Given the description of an element on the screen output the (x, y) to click on. 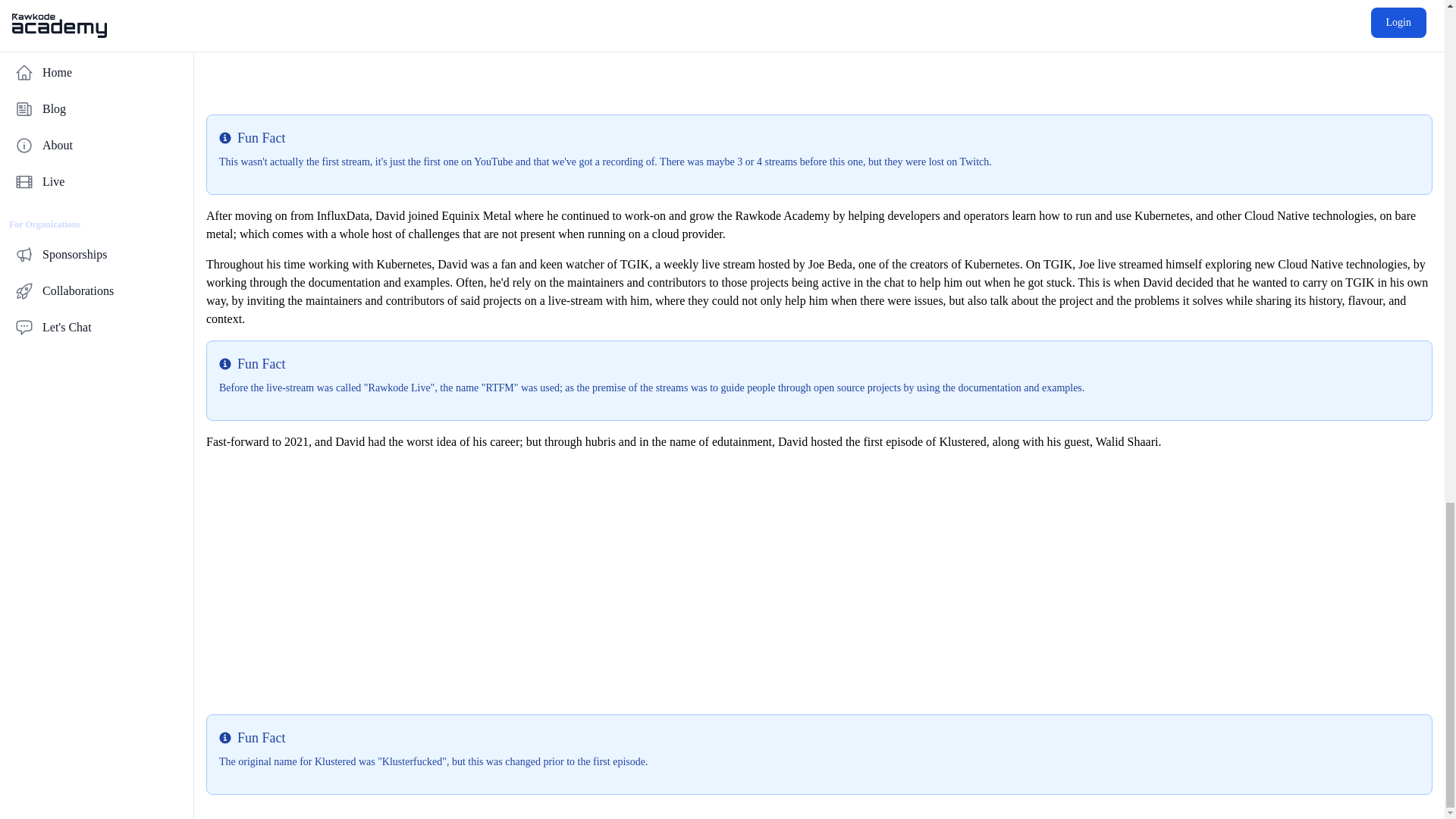
YouTube video player (818, 582)
YouTube video player (818, 51)
